Given the description of an element on the screen output the (x, y) to click on. 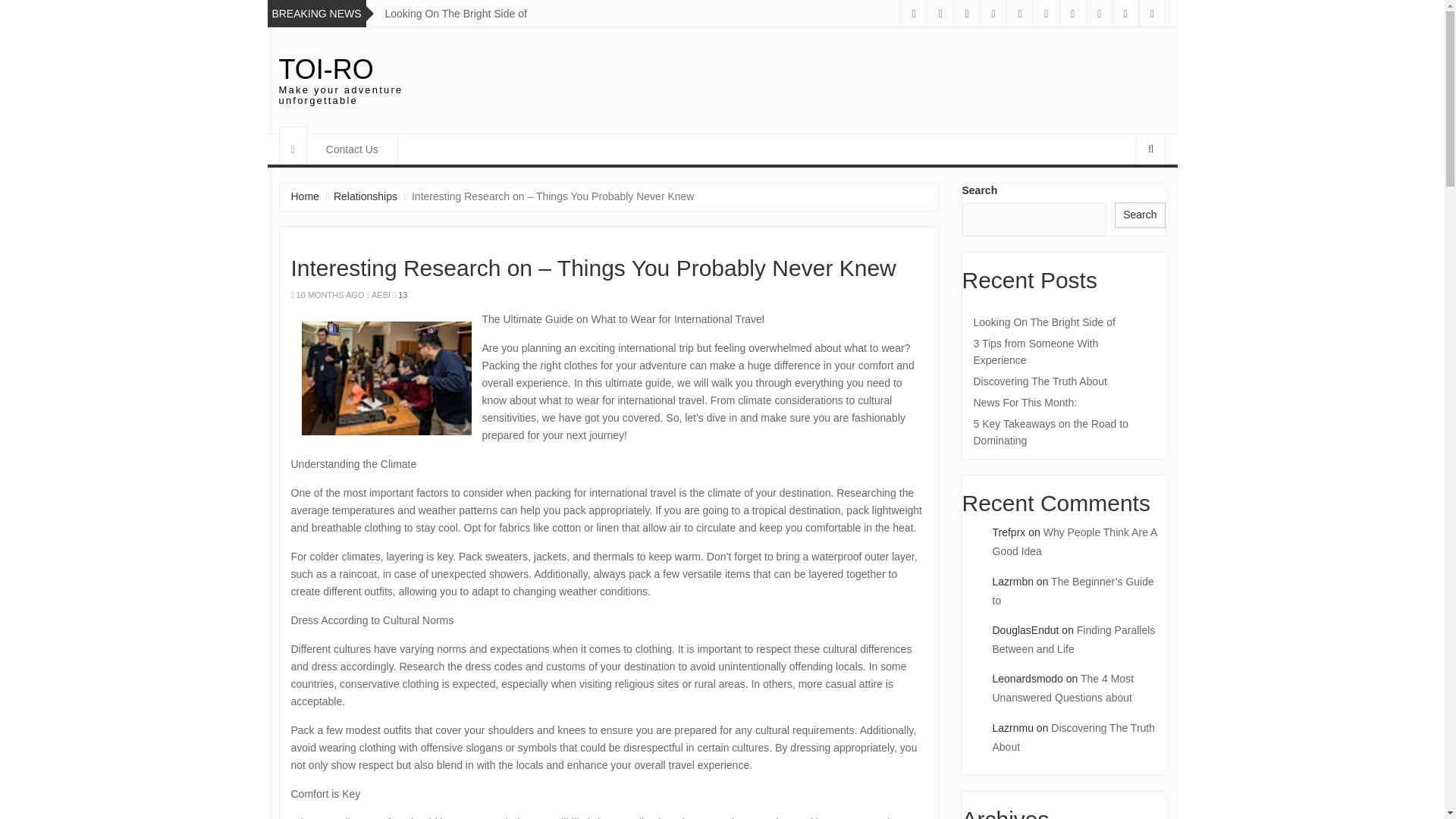
TOI-RO (326, 69)
Looking On The Bright Side of (456, 13)
Home (304, 196)
13 (402, 294)
Contact Us (352, 149)
Relationships (365, 196)
